Given the description of an element on the screen output the (x, y) to click on. 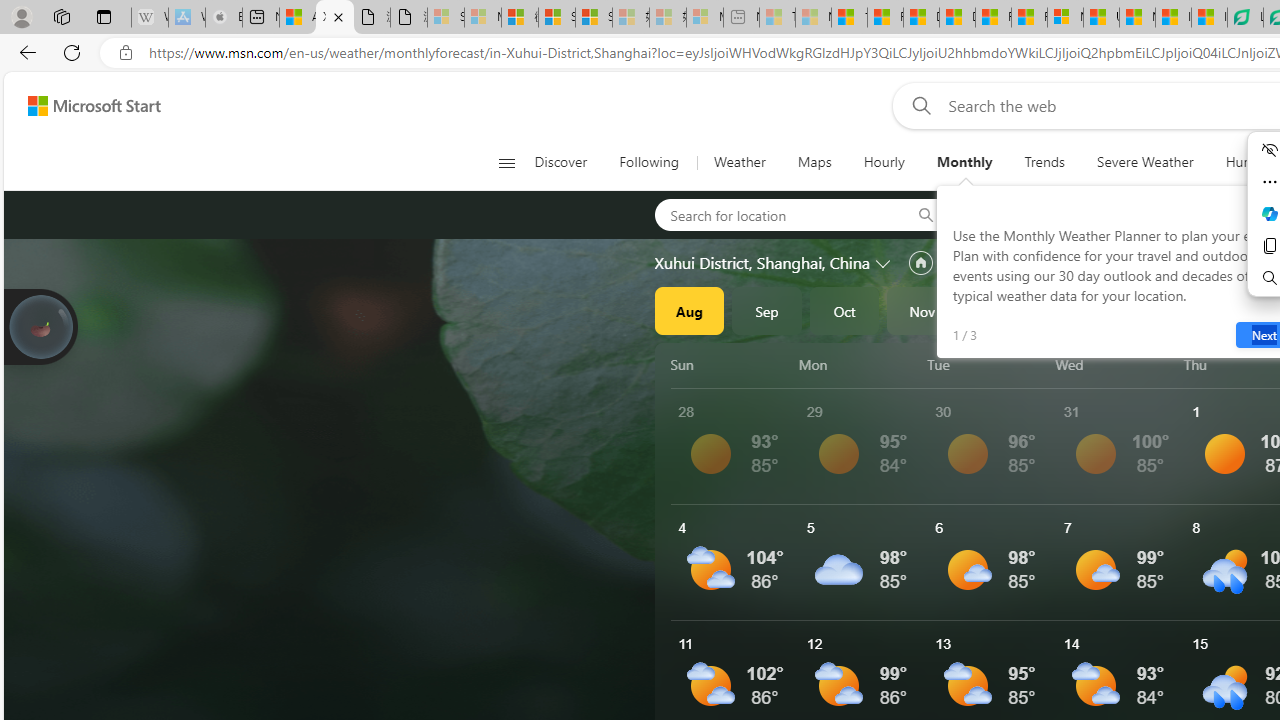
Marine life - MSN - Sleeping (813, 17)
Sun (731, 363)
Skip to footer (82, 105)
2025Jan (1077, 310)
Skip to content (86, 105)
Set as primary location (920, 263)
Feb (1155, 310)
US Heat Deaths Soared To Record High Last Year (1101, 17)
Monthly (964, 162)
